Given the description of an element on the screen output the (x, y) to click on. 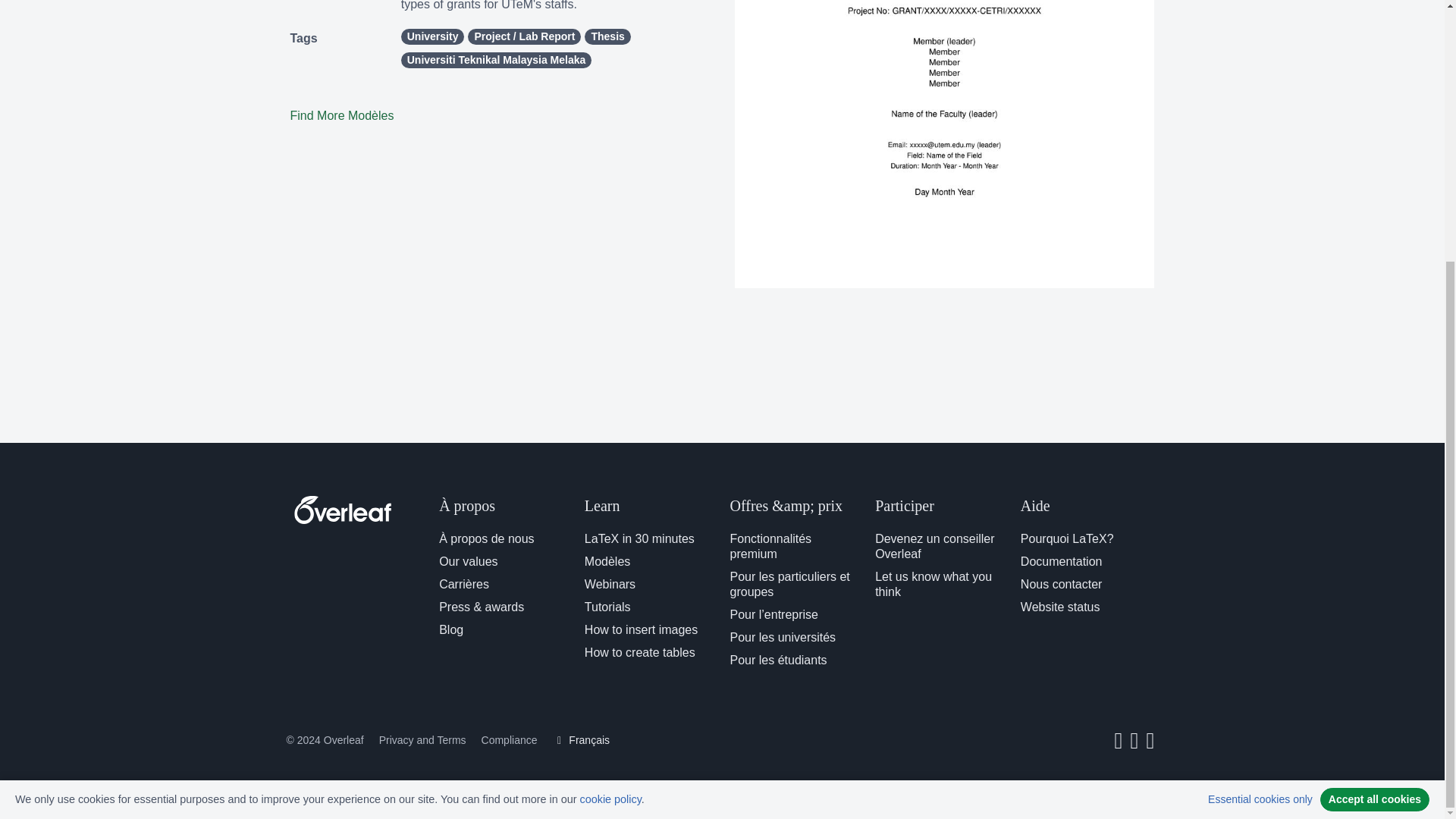
Tutorials (607, 606)
Our values (468, 561)
University (432, 36)
Universiti Teknikal Malaysia Melaka (496, 59)
How to create tables (640, 652)
Blog (451, 629)
Webinars (609, 584)
LaTeX in 30 minutes (639, 538)
Thesis (607, 36)
How to insert images (641, 629)
